Given the description of an element on the screen output the (x, y) to click on. 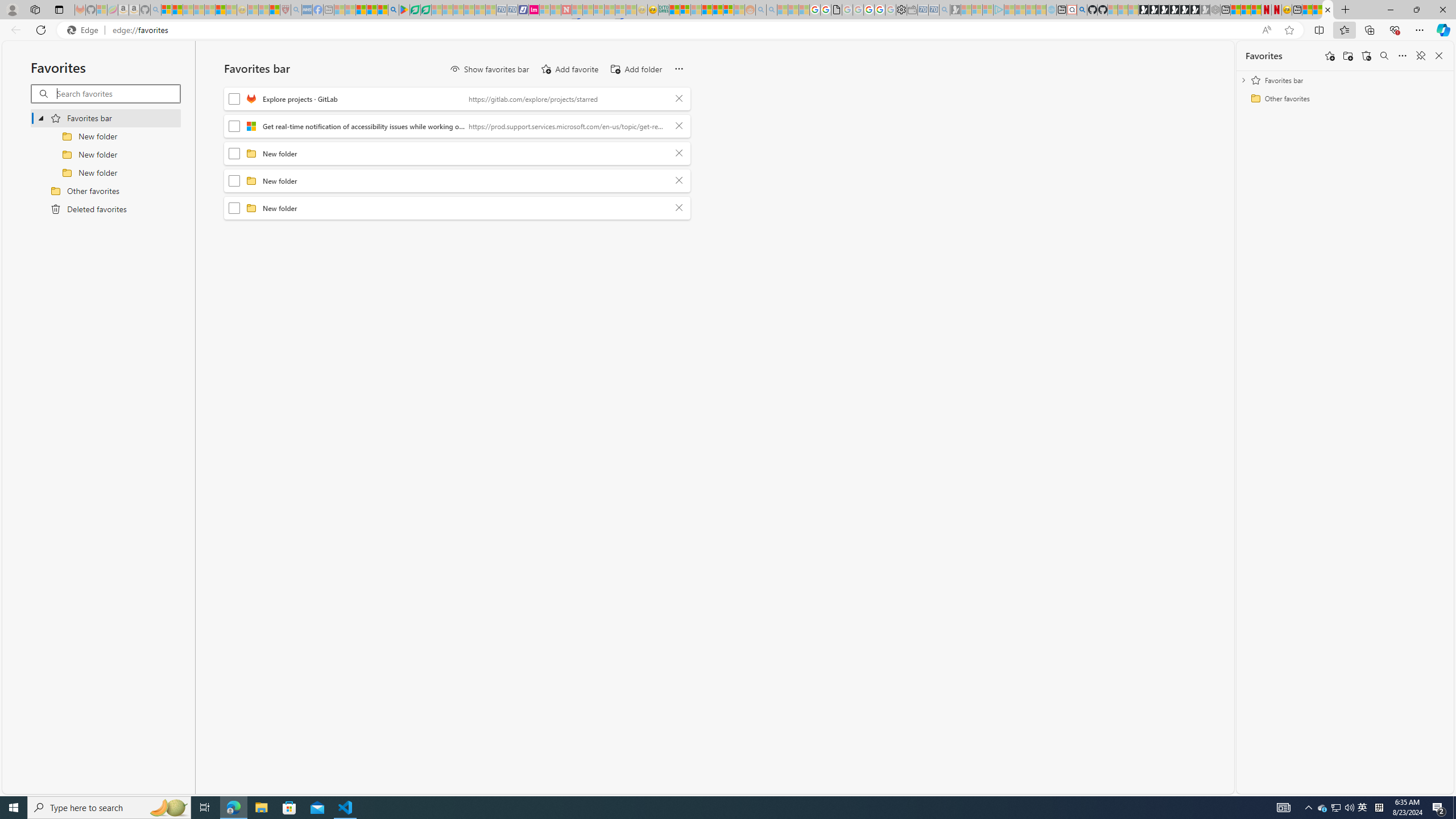
Add folder (1347, 55)
Tab actions menu (58, 9)
Utah sues federal government - Search - Sleeping (771, 9)
Trusted Community Engagement and Contributions | Guidelines (577, 9)
Local - MSN (274, 9)
New tab (1297, 9)
Microsoft-Report a Concern to Bing - Sleeping (101, 9)
App bar (728, 29)
Play Cave FRVR in your browser | Games from Microsoft Start (1163, 9)
